Given the description of an element on the screen output the (x, y) to click on. 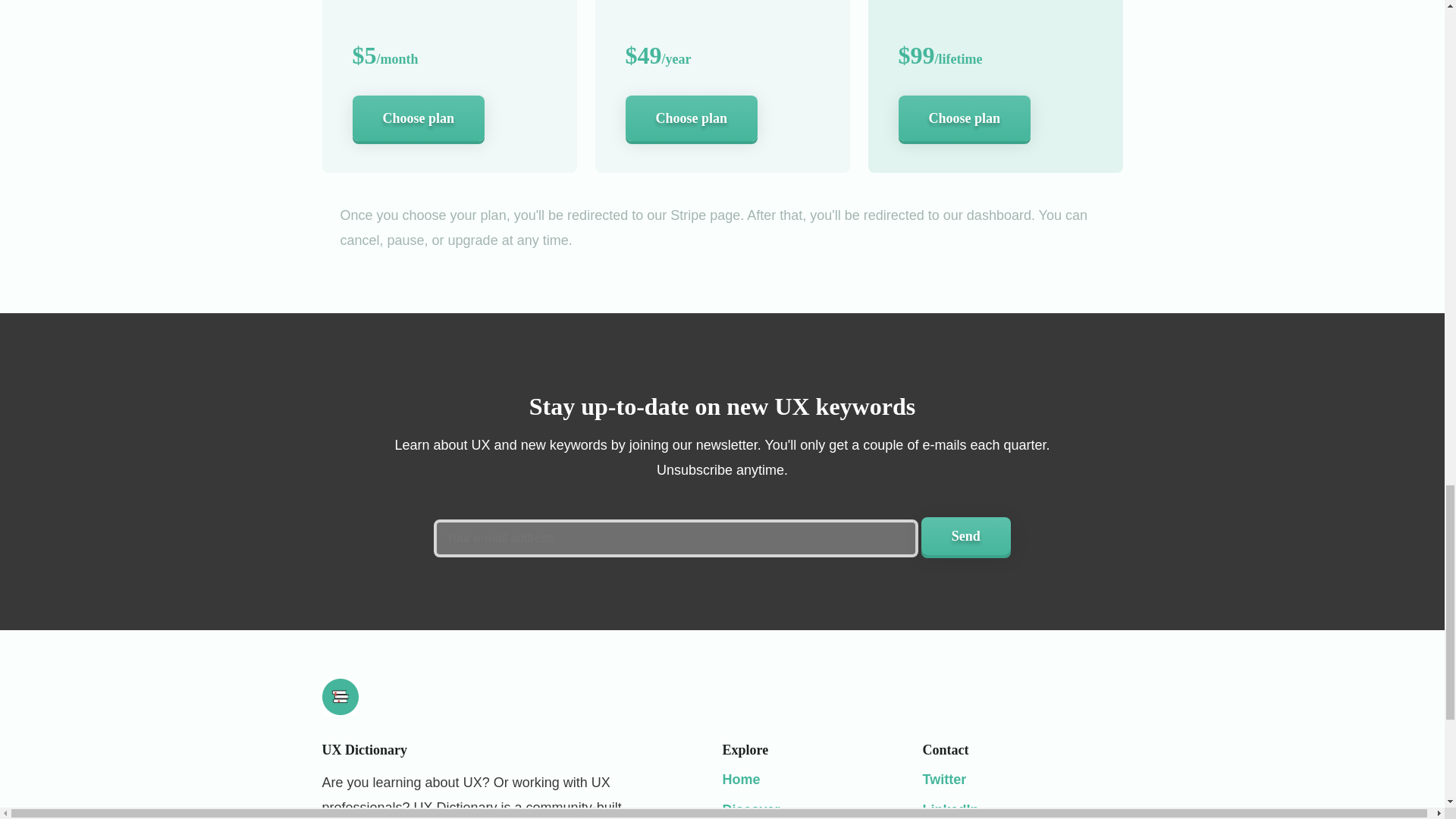
Home (741, 779)
Choose plan (418, 117)
Choose plan (964, 117)
Twitter (943, 779)
LinkedIn (949, 809)
Choose UX Dictionary monthly plan (418, 117)
Discover (750, 809)
Discover (750, 809)
Send (965, 535)
Choose UX Dictionary annual plan (690, 117)
Choose plan (690, 117)
UX Dictionary (741, 779)
Choose UX Dictionary lifetime plan (964, 117)
